Given the description of an element on the screen output the (x, y) to click on. 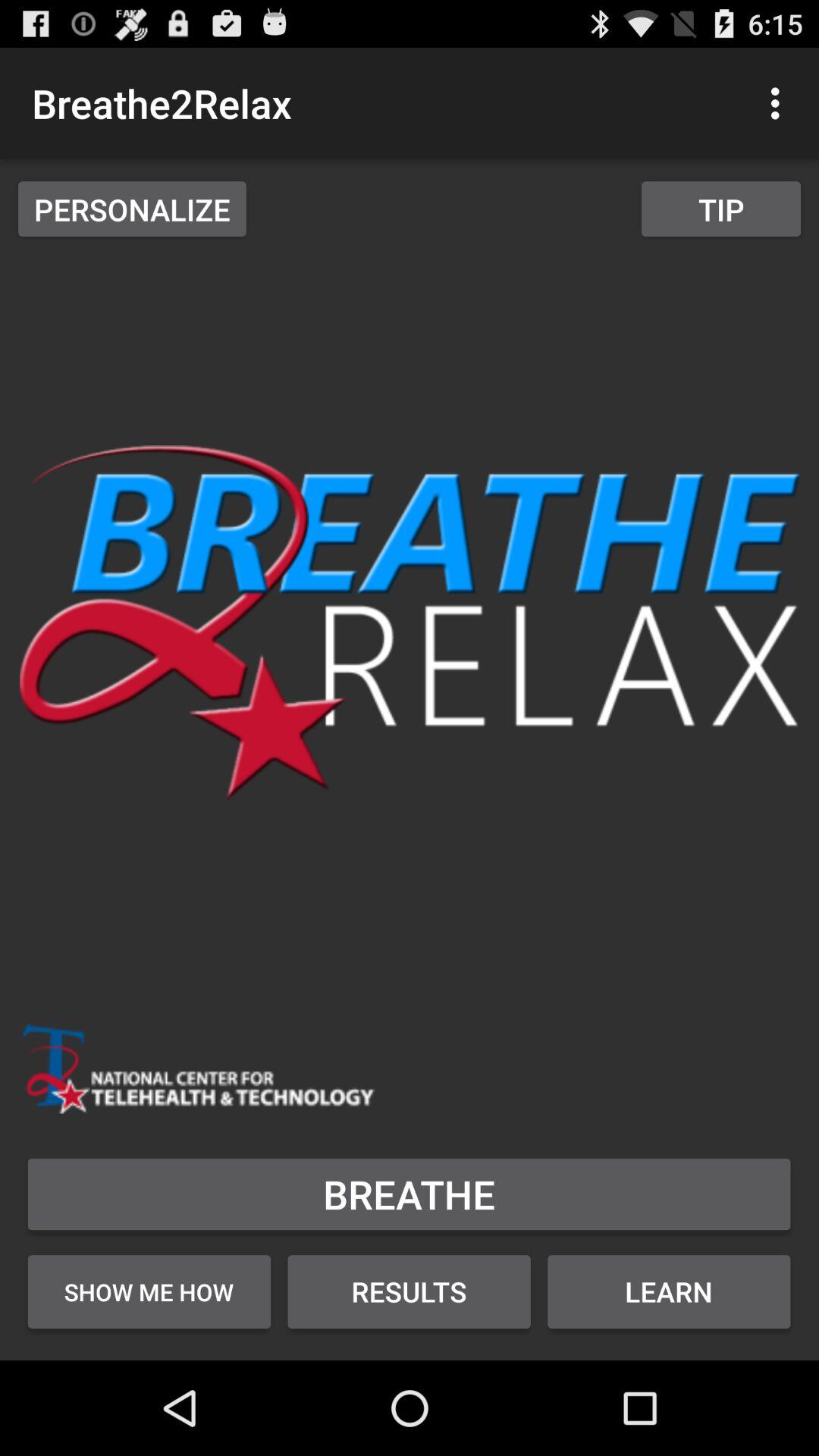
turn on the item to the right of the show me how (408, 1291)
